Given the description of an element on the screen output the (x, y) to click on. 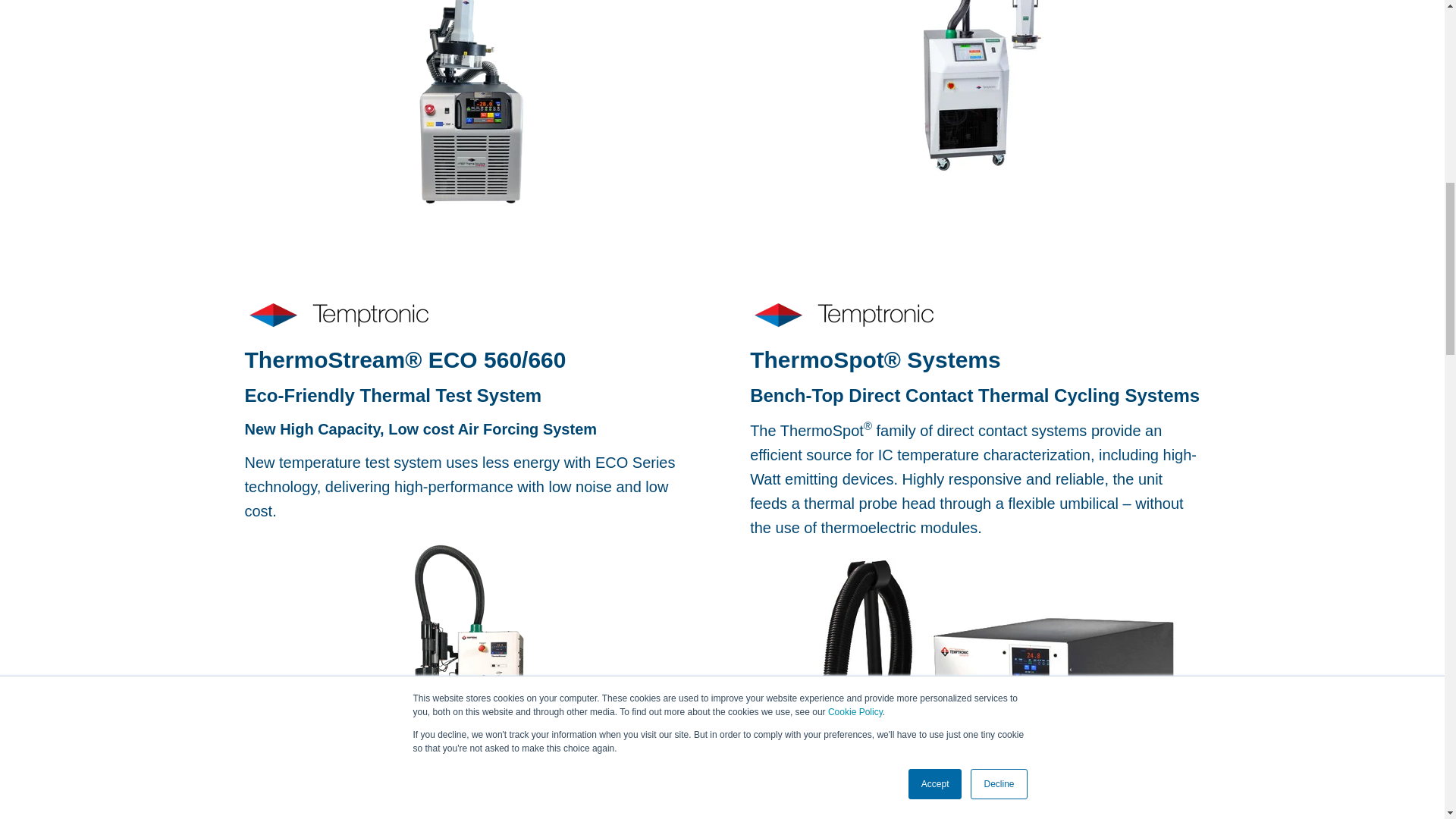
ECO ThermoStream (974, 90)
Temptronic  (843, 314)
Temptronic  (338, 314)
Benchtop Thermal Test System (469, 106)
